Given the description of an element on the screen output the (x, y) to click on. 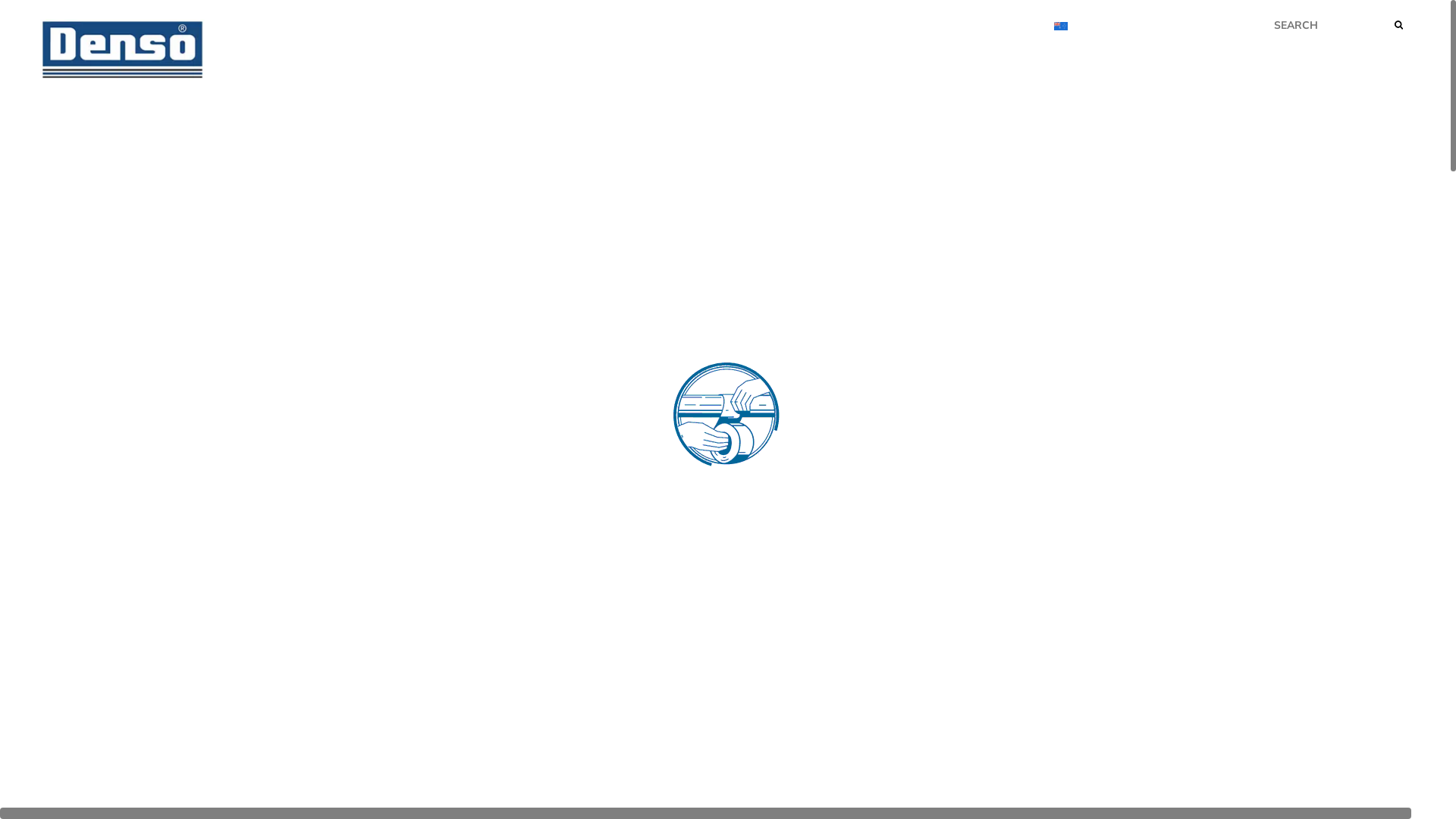
CASE STUDIES Element type: text (840, 28)
ABOUT Element type: text (1004, 28)
ONLINE LIBRARY Element type: text (923, 93)
CONTACT Element type: text (1370, 93)
APPLICATIONS Element type: text (1178, 93)
NEWS Element type: text (753, 28)
Search for: Element type: hover (1339, 24)
PRODUCT FINDER Element type: text (1053, 93)
VIDEOS Element type: text (932, 28)
HOME Element type: text (831, 93)
INDUSTRIES Element type: text (1282, 93)
